Given the description of an element on the screen output the (x, y) to click on. 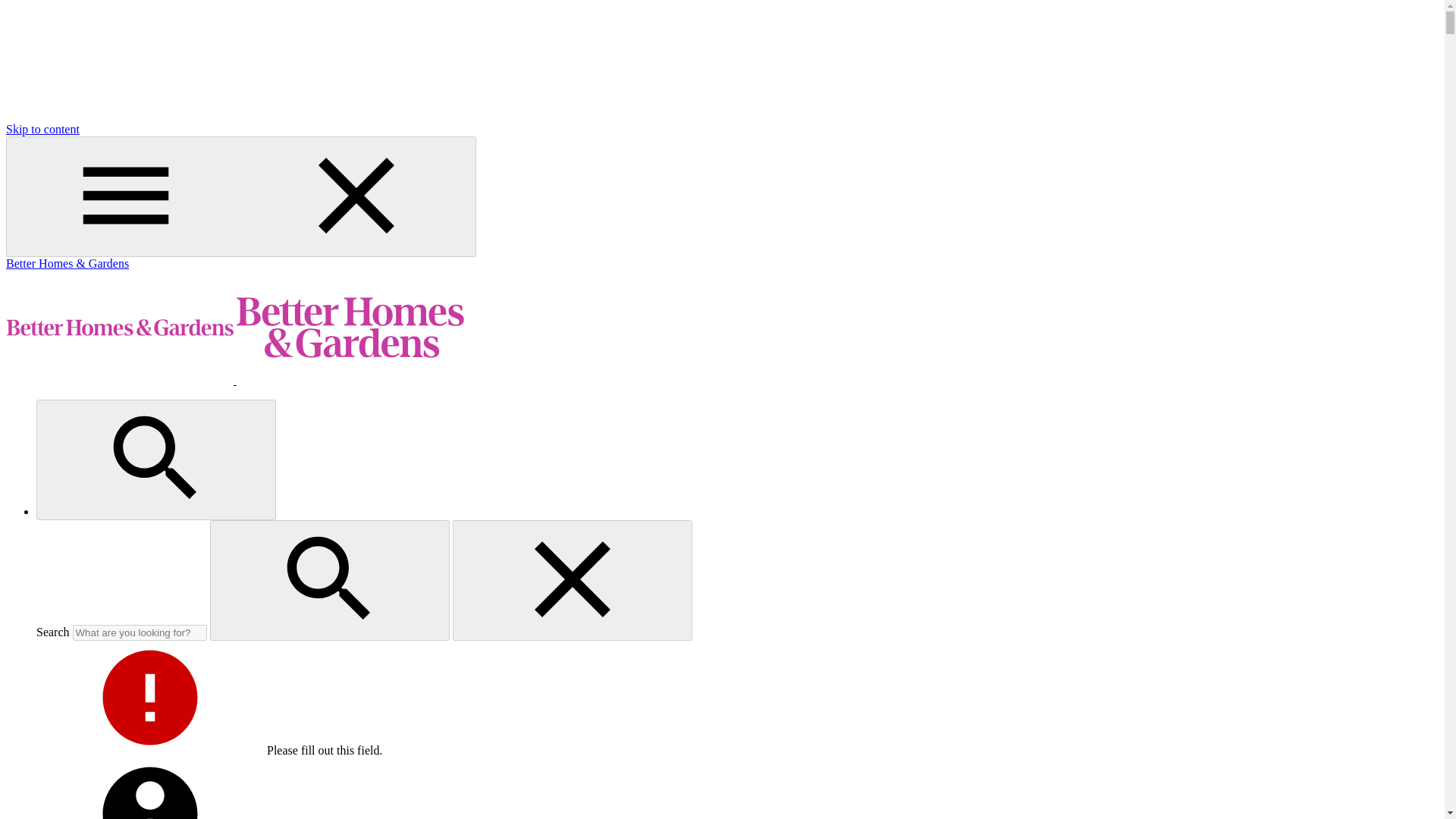
Skip to content (42, 128)
